Given the description of an element on the screen output the (x, y) to click on. 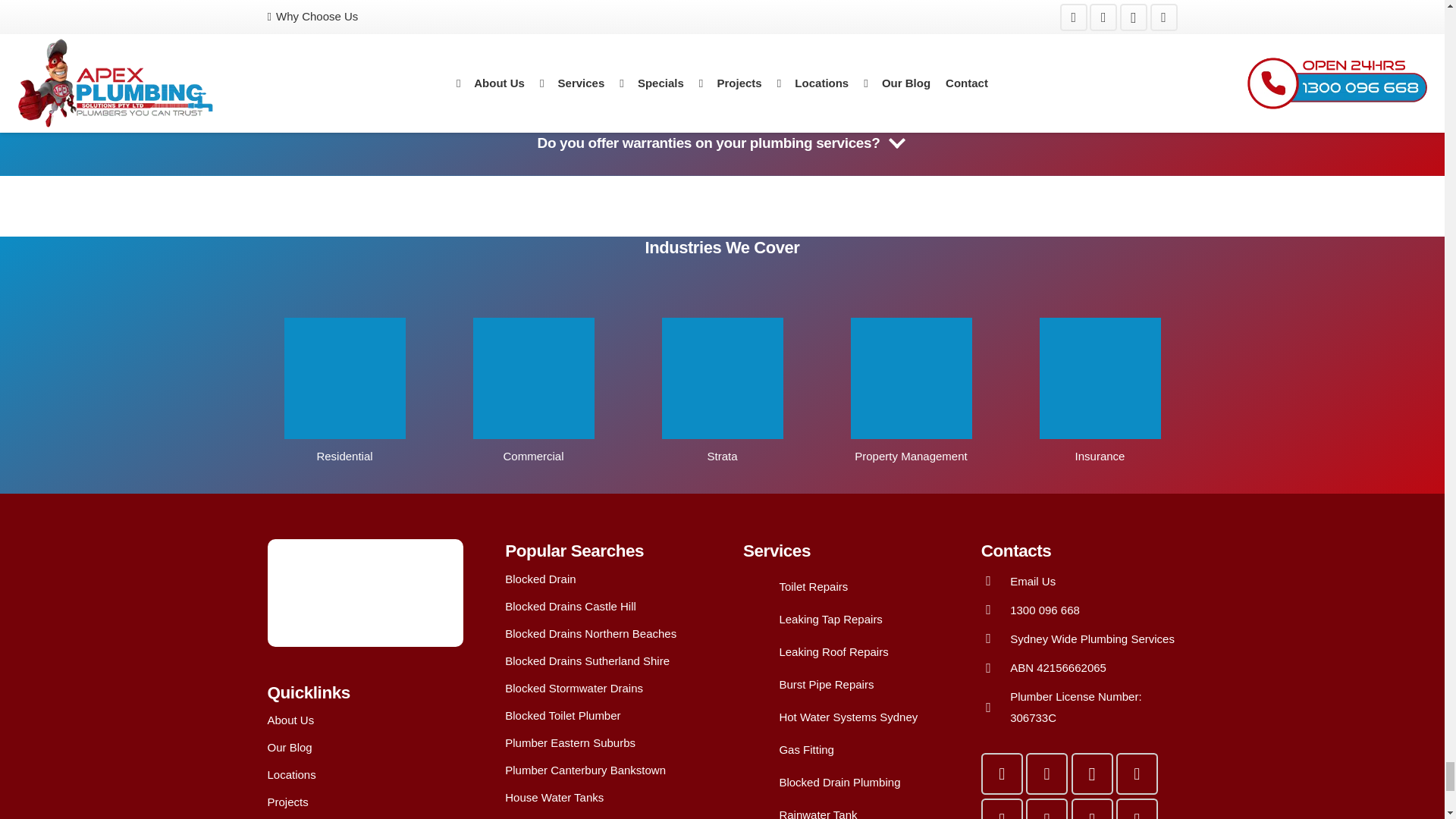
Facebook (1002, 773)
YouTube (1046, 773)
Leaking Roof Repairs (833, 651)
Leaking Roof Repairs (760, 652)
Instagram (1091, 773)
Google (1136, 773)
